Given the description of an element on the screen output the (x, y) to click on. 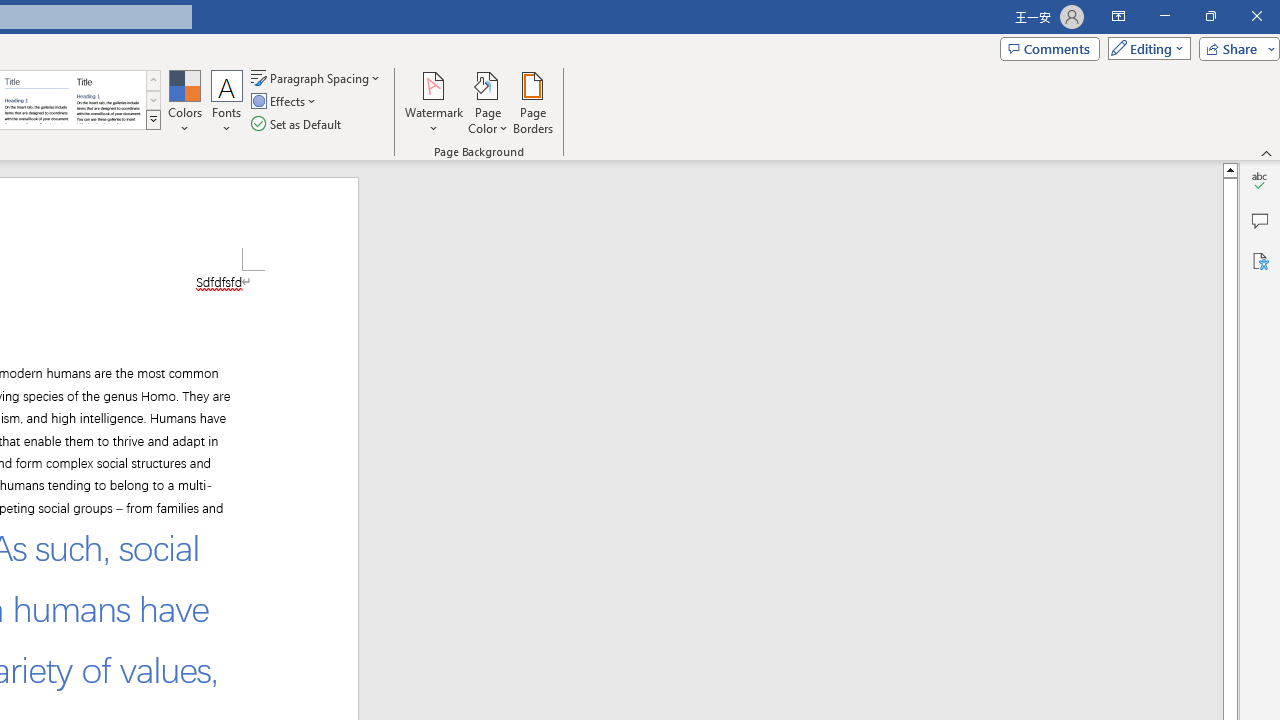
Word 2013 (108, 100)
Page Color (487, 102)
Page Borders... (532, 102)
Paragraph Spacing (317, 78)
Style Set (153, 120)
Watermark (434, 102)
Colors (184, 102)
